Given the description of an element on the screen output the (x, y) to click on. 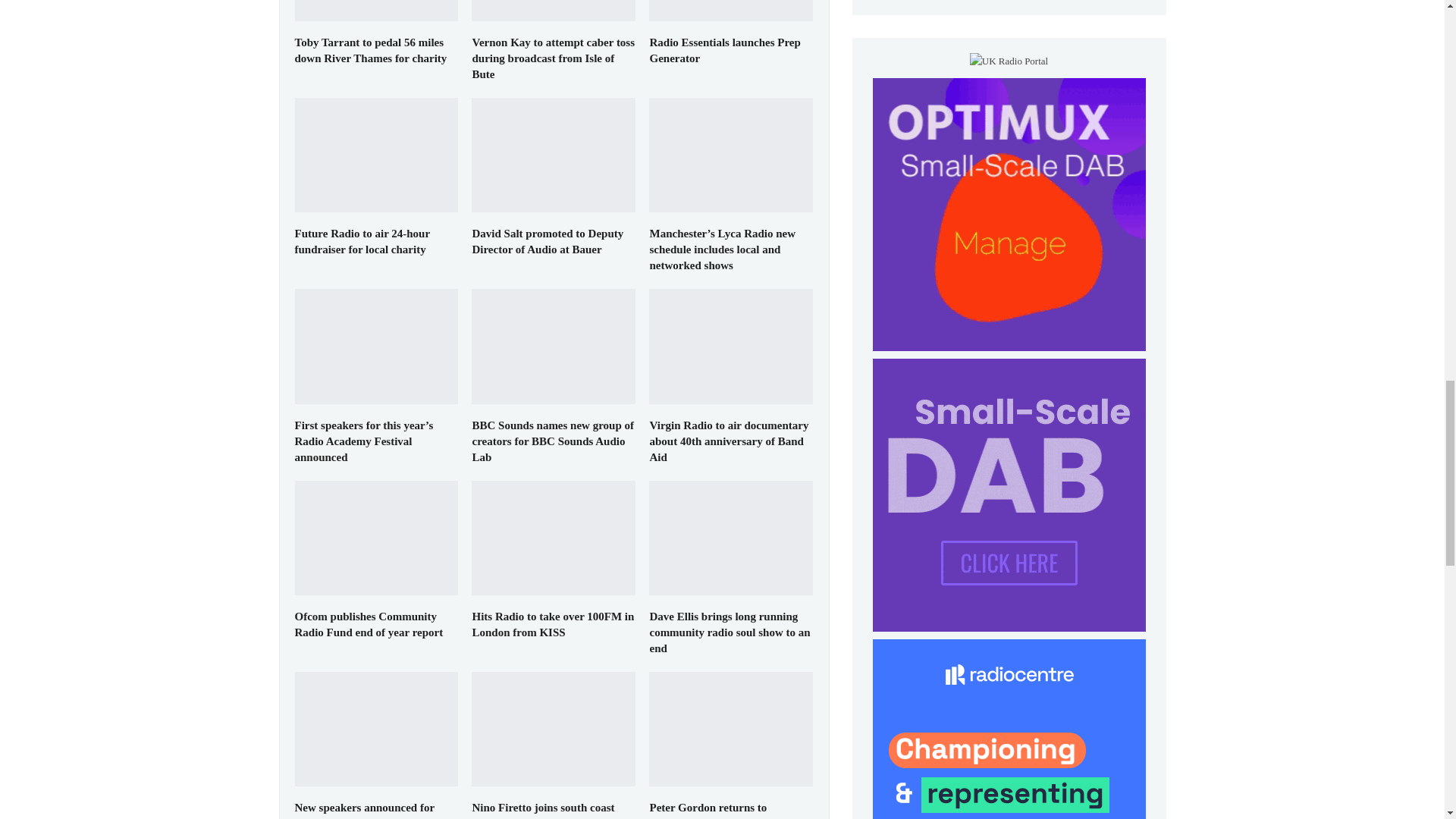
David Salt promoted to Deputy Director of Audio at Bauer (547, 241)
Future Radio to air 24-hour fundraiser for local charity (376, 154)
Future Radio to air 24-hour fundraiser for local charity (361, 241)
Radio Essentials launches Prep Generator (724, 50)
Toby Tarrant to pedal 56 miles down River Thames for charity (370, 50)
David Salt promoted to Deputy Director of Audio at Bauer (552, 154)
Radio Essentials launches Prep Generator (730, 10)
Toby Tarrant to pedal 56 miles down River Thames for charity (376, 10)
